Given the description of an element on the screen output the (x, y) to click on. 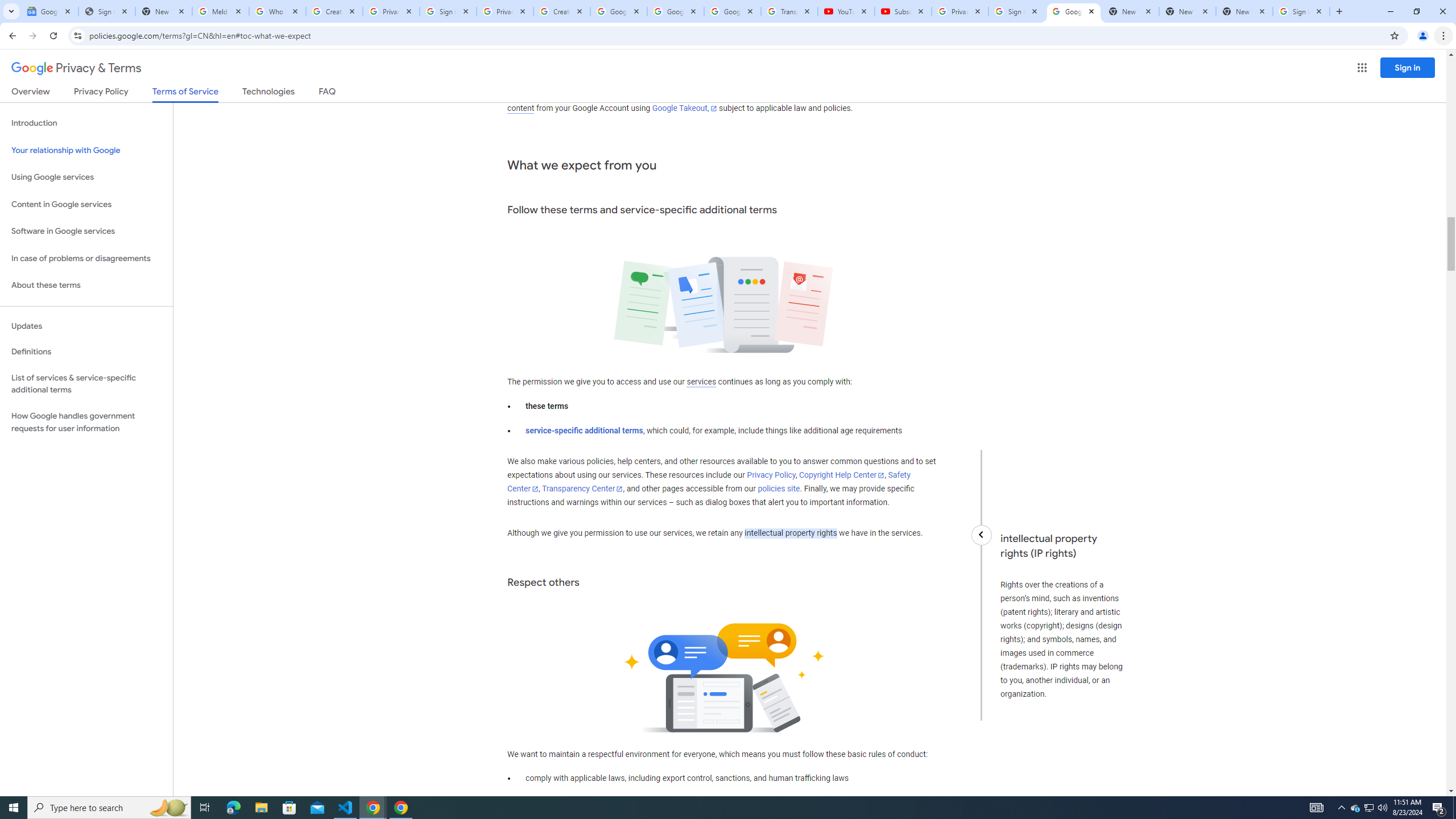
Your relationship with Google (86, 150)
